Given the description of an element on the screen output the (x, y) to click on. 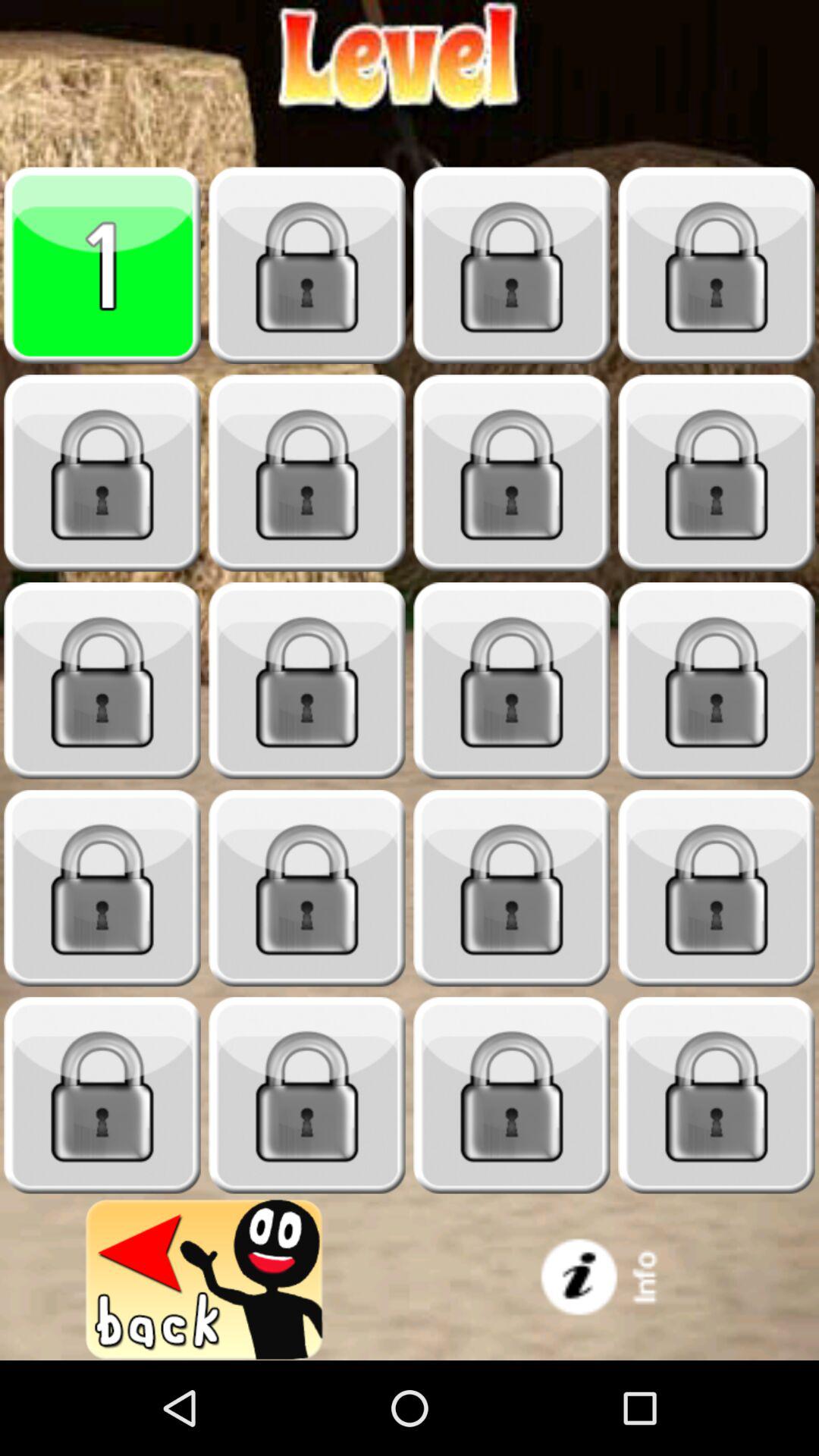
locked game level (102, 1094)
